Given the description of an element on the screen output the (x, y) to click on. 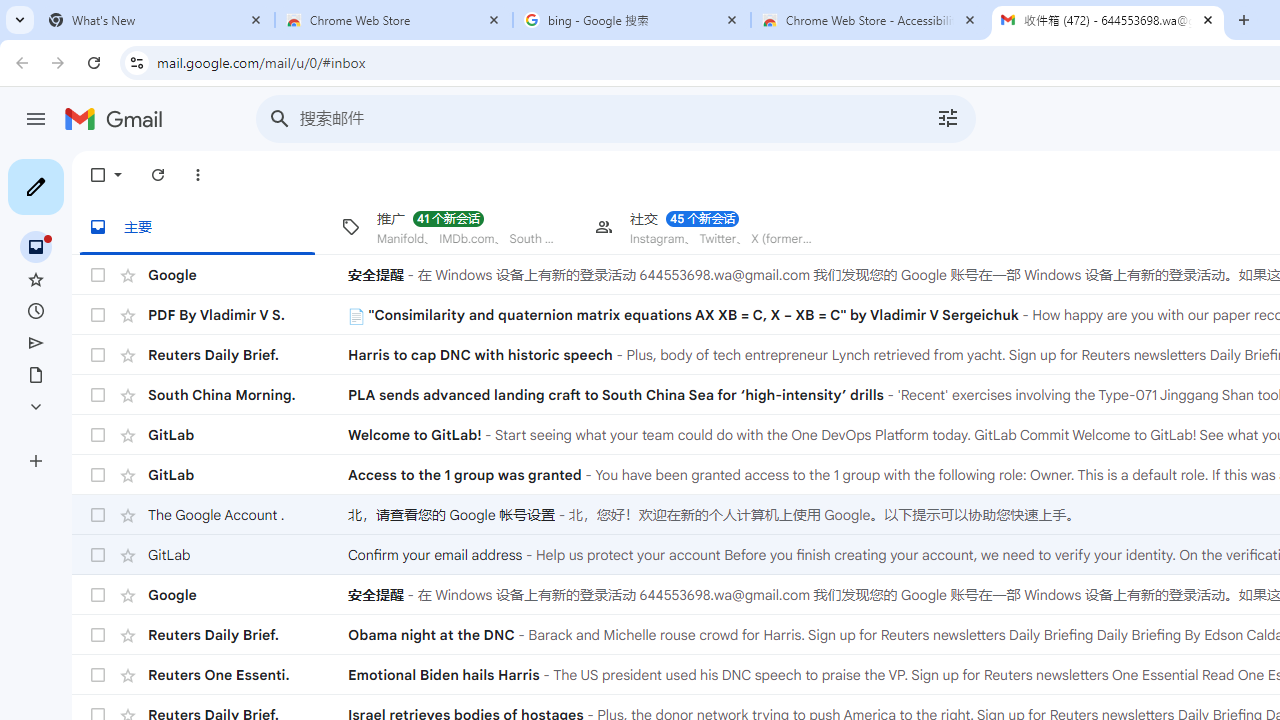
Chrome Web Store - Accessibility (870, 20)
PDF By Vladimir V S. (248, 314)
Google (248, 594)
View site information (136, 62)
